Given the description of an element on the screen output the (x, y) to click on. 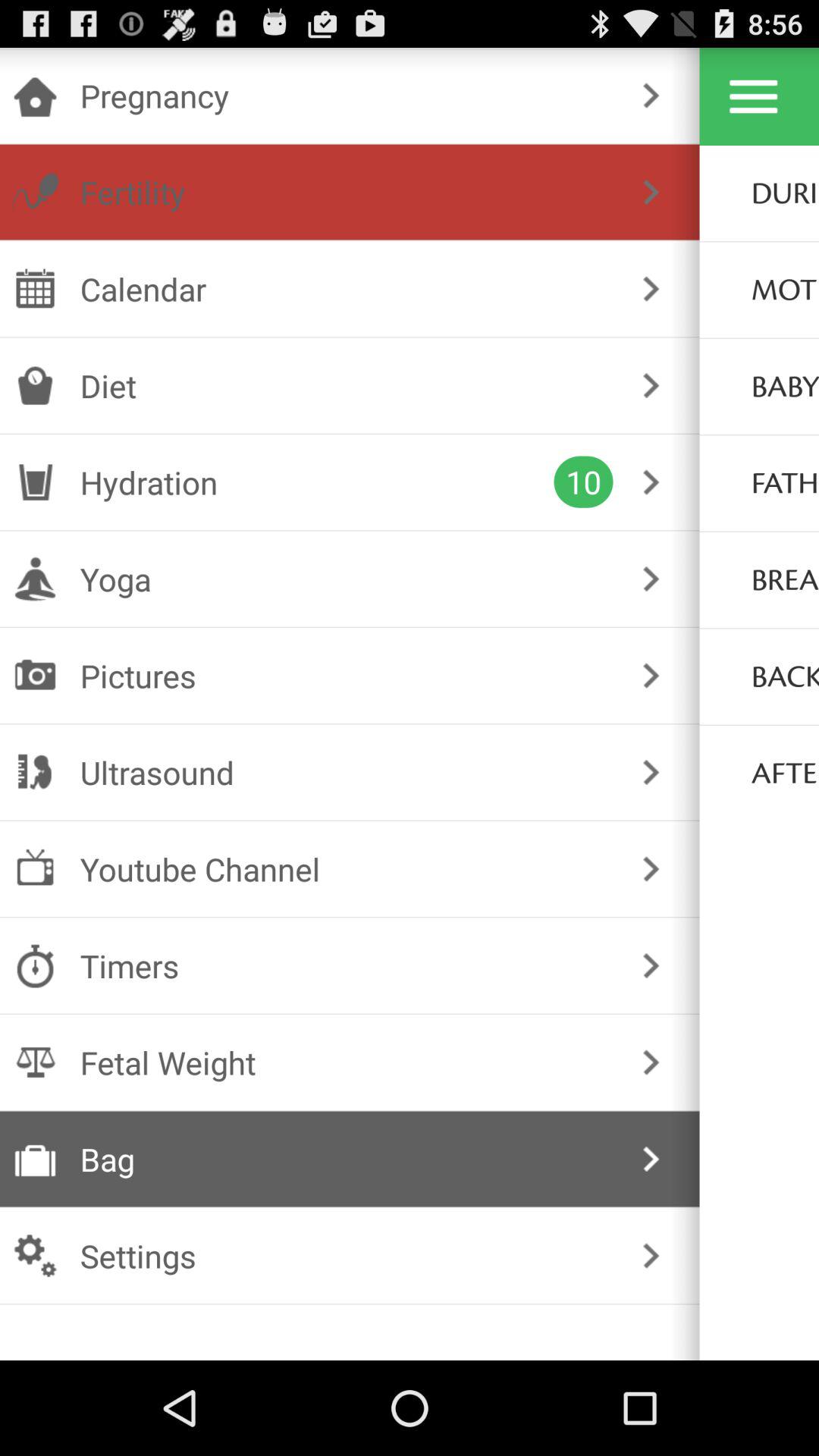
click icon below calendar item (346, 385)
